Given the description of an element on the screen output the (x, y) to click on. 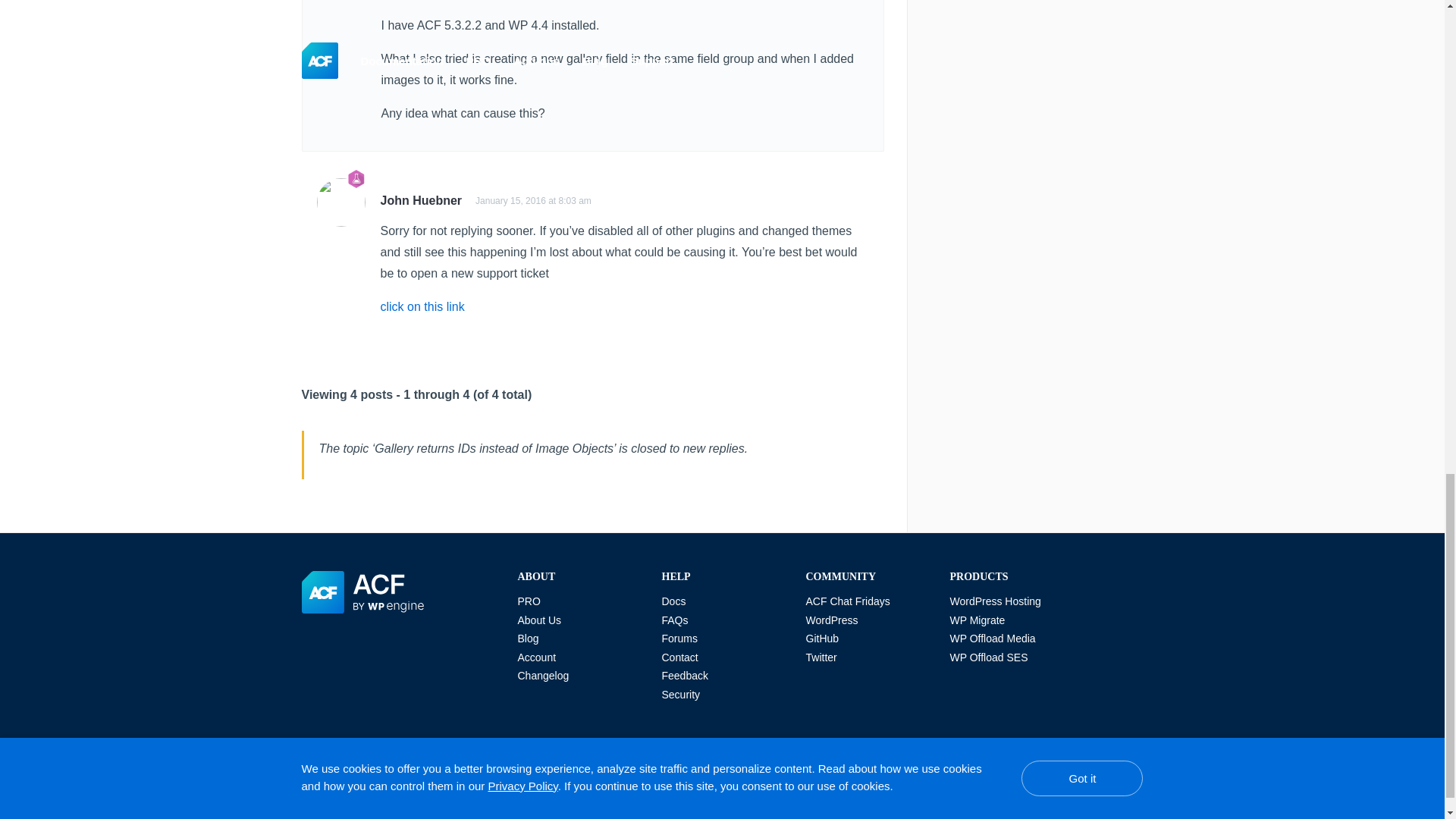
John Huebner (421, 200)
Guru (356, 178)
click on this link (422, 306)
January 15, 2016 at 8:03 am (533, 200)
